Given the description of an element on the screen output the (x, y) to click on. 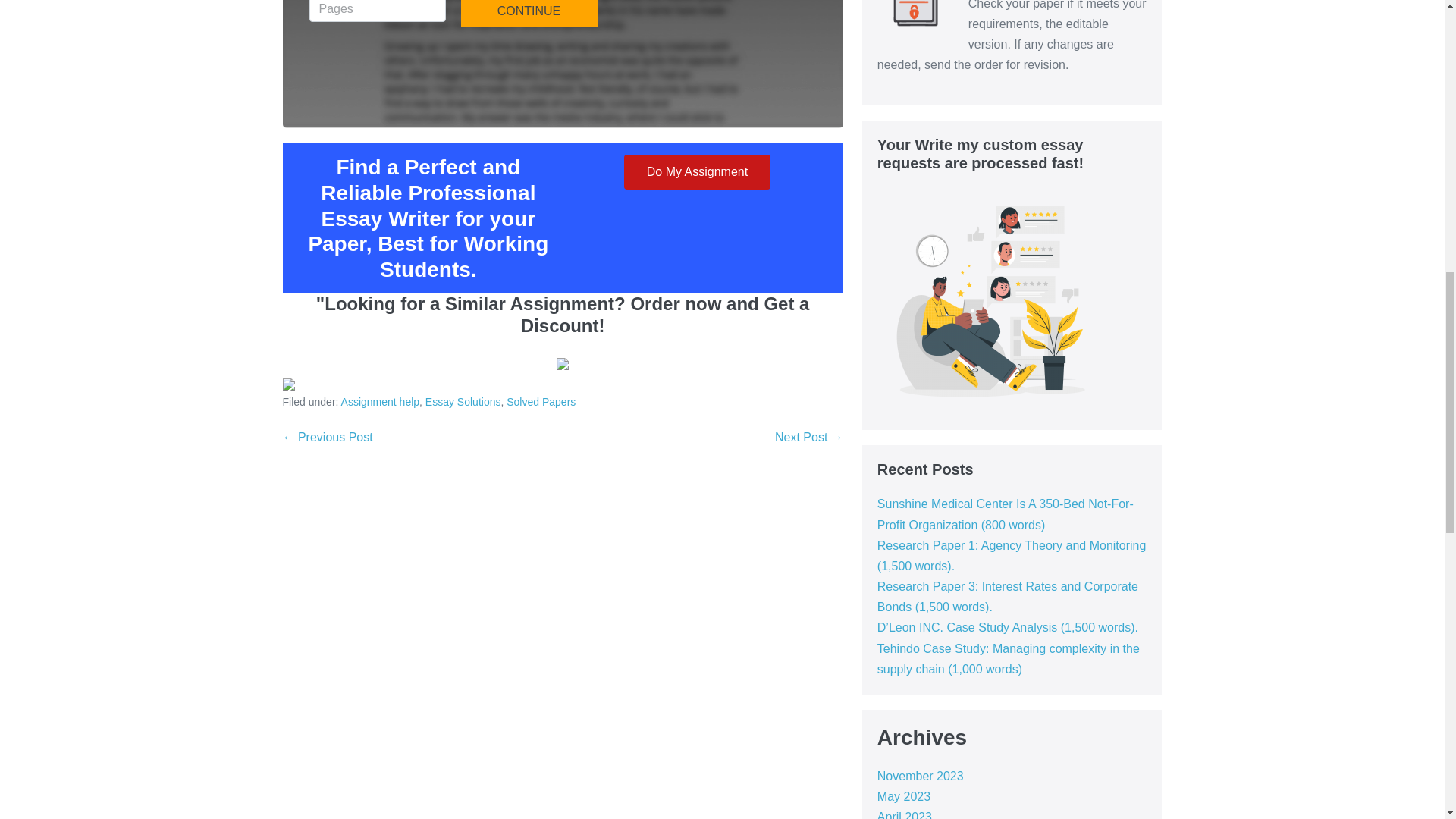
Assignment help (380, 401)
April 2023 (904, 814)
November 2023 (920, 775)
Solved Papers (540, 401)
CONTINUE (528, 12)
Do My Assignment (697, 171)
Essay Solutions (462, 401)
May 2023 (903, 796)
